Given the description of an element on the screen output the (x, y) to click on. 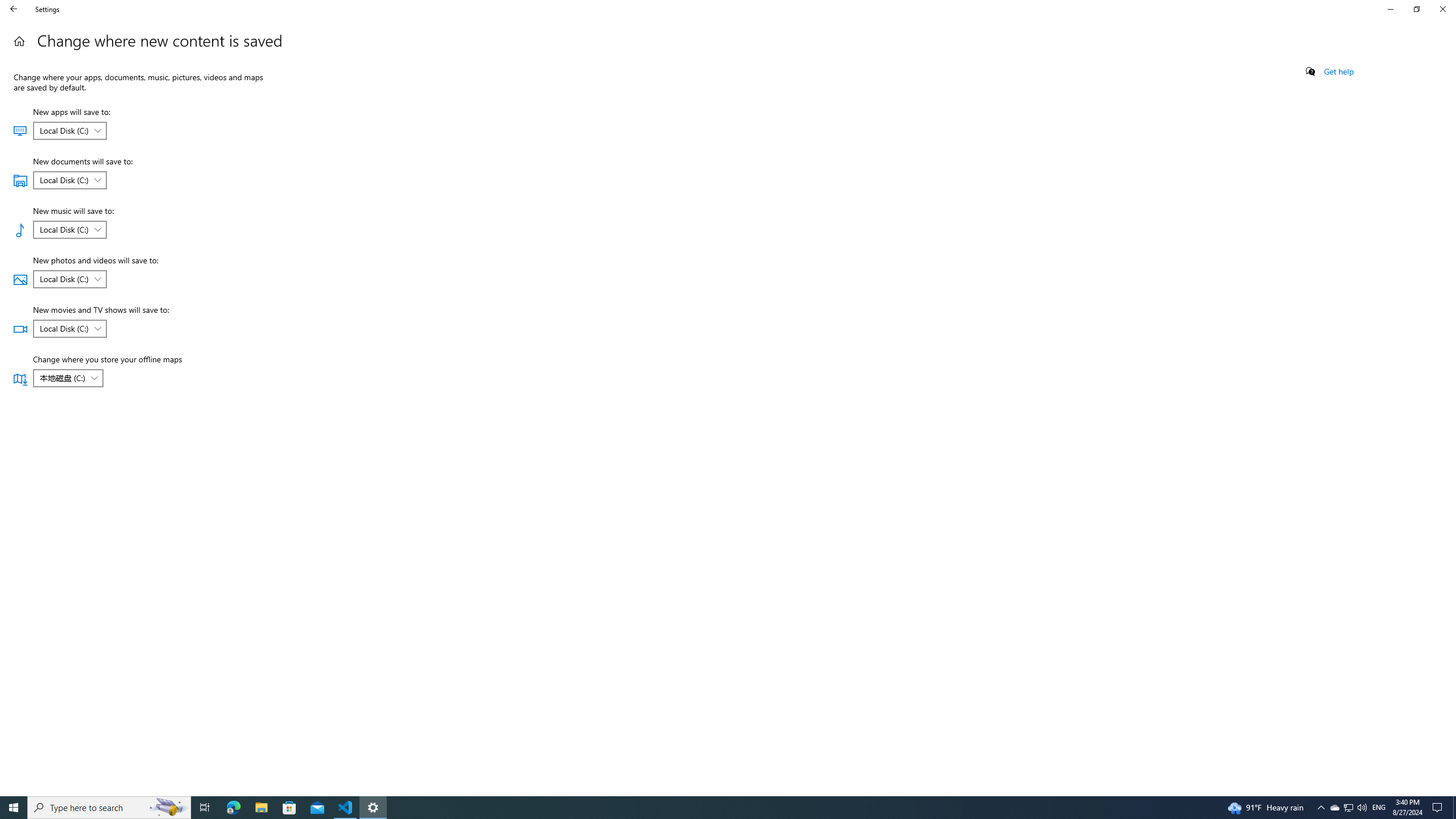
Task View (204, 807)
Microsoft Store (289, 807)
Close Settings (1442, 9)
